Given the description of an element on the screen output the (x, y) to click on. 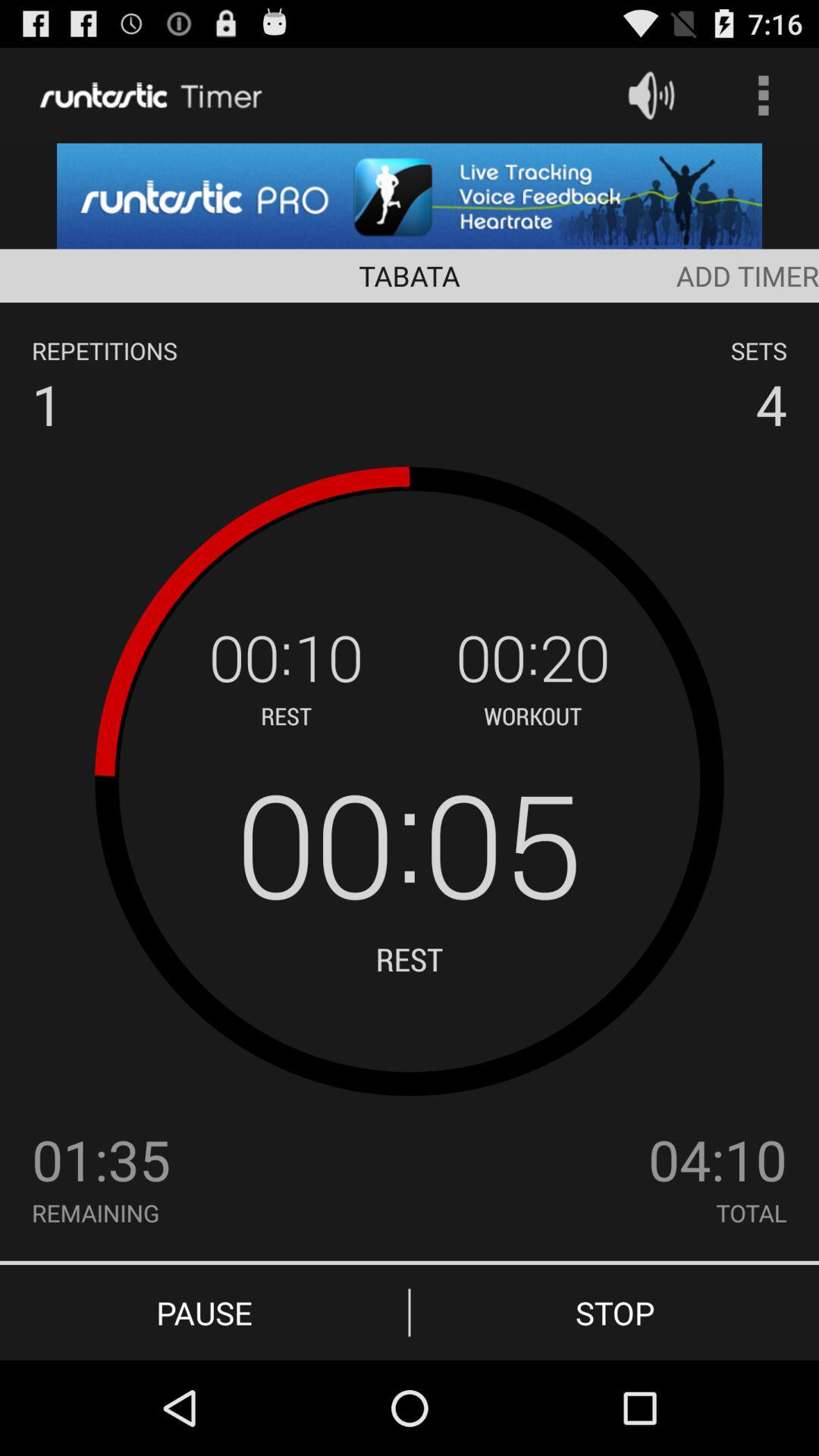
choose app above tabata app (409, 196)
